Given the description of an element on the screen output the (x, y) to click on. 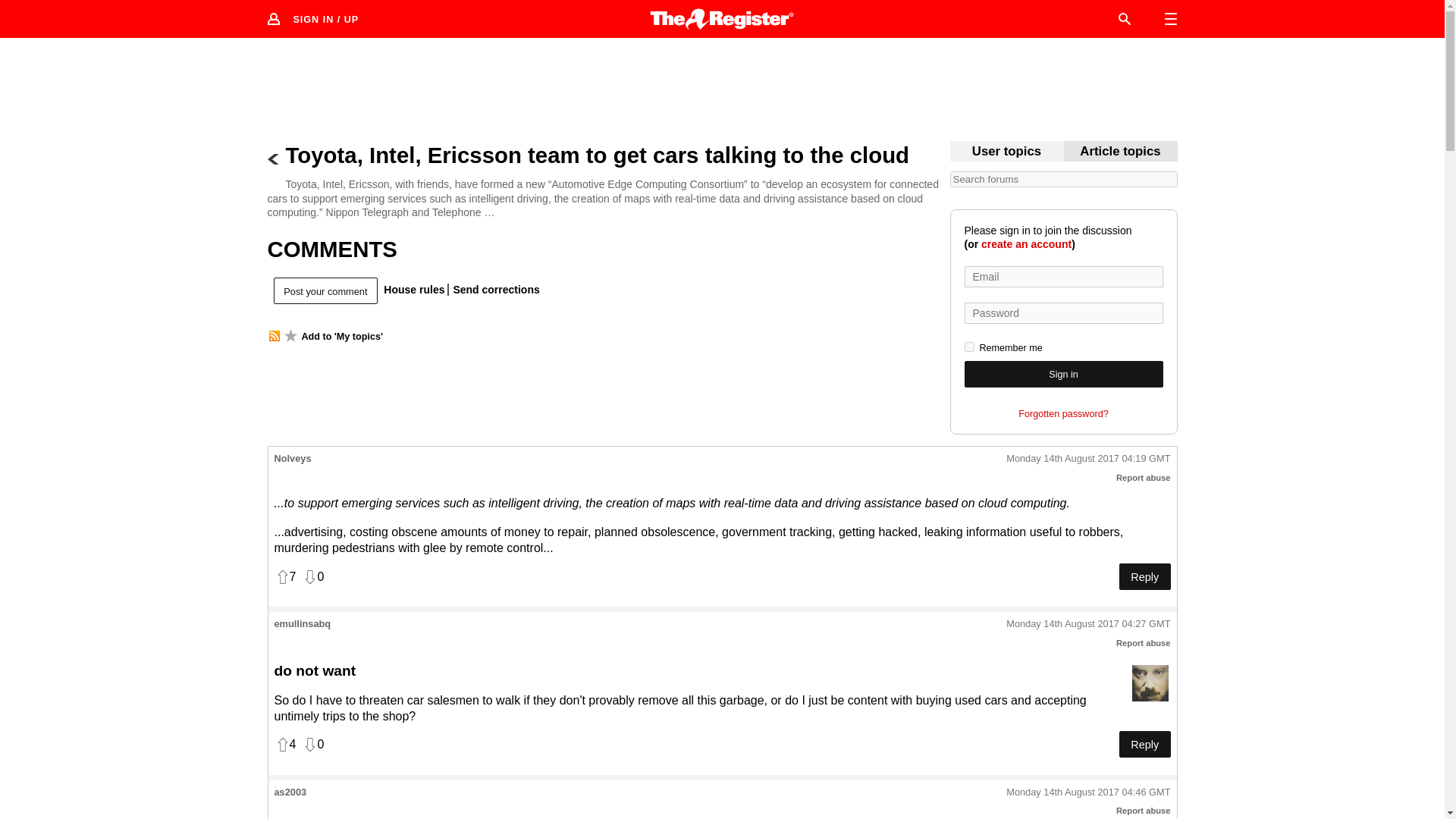
yes (968, 347)
Permalink to this post (1088, 459)
Spotted an error? Let us know. (492, 289)
Like this post? Vote for it! (286, 576)
Report abuse (1143, 809)
Sign in (1063, 374)
Permalink to this post (1088, 624)
For corrections, please use link below article copy, kthxbye (1120, 151)
Report abuse (1143, 477)
Forgotten password? (1063, 413)
